Given the description of an element on the screen output the (x, y) to click on. 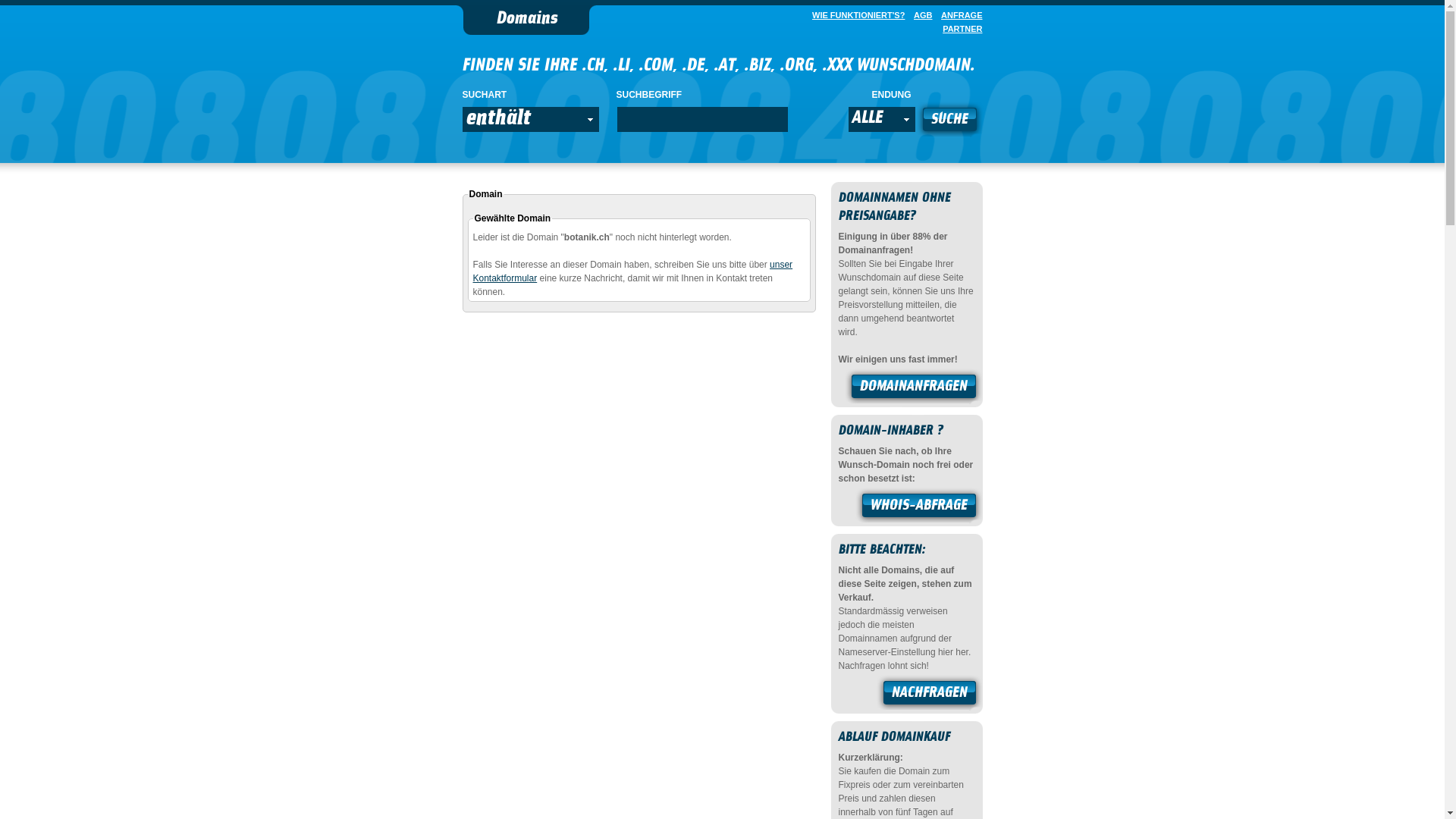
PARTNER Element type: text (959, 28)
DOMAINANFRAGEN Element type: text (913, 387)
WIE FUNKTIONIERT'S? Element type: text (855, 14)
AGB Element type: text (919, 14)
ANFRAGE Element type: text (958, 14)
unser Kontaktformular Element type: text (633, 271)
Domains Element type: text (526, 19)
NACHFRAGEN Element type: text (929, 694)
WHOIS-ABFRAGE Element type: text (918, 507)
SUCHE Element type: text (949, 121)
